Given the description of an element on the screen output the (x, y) to click on. 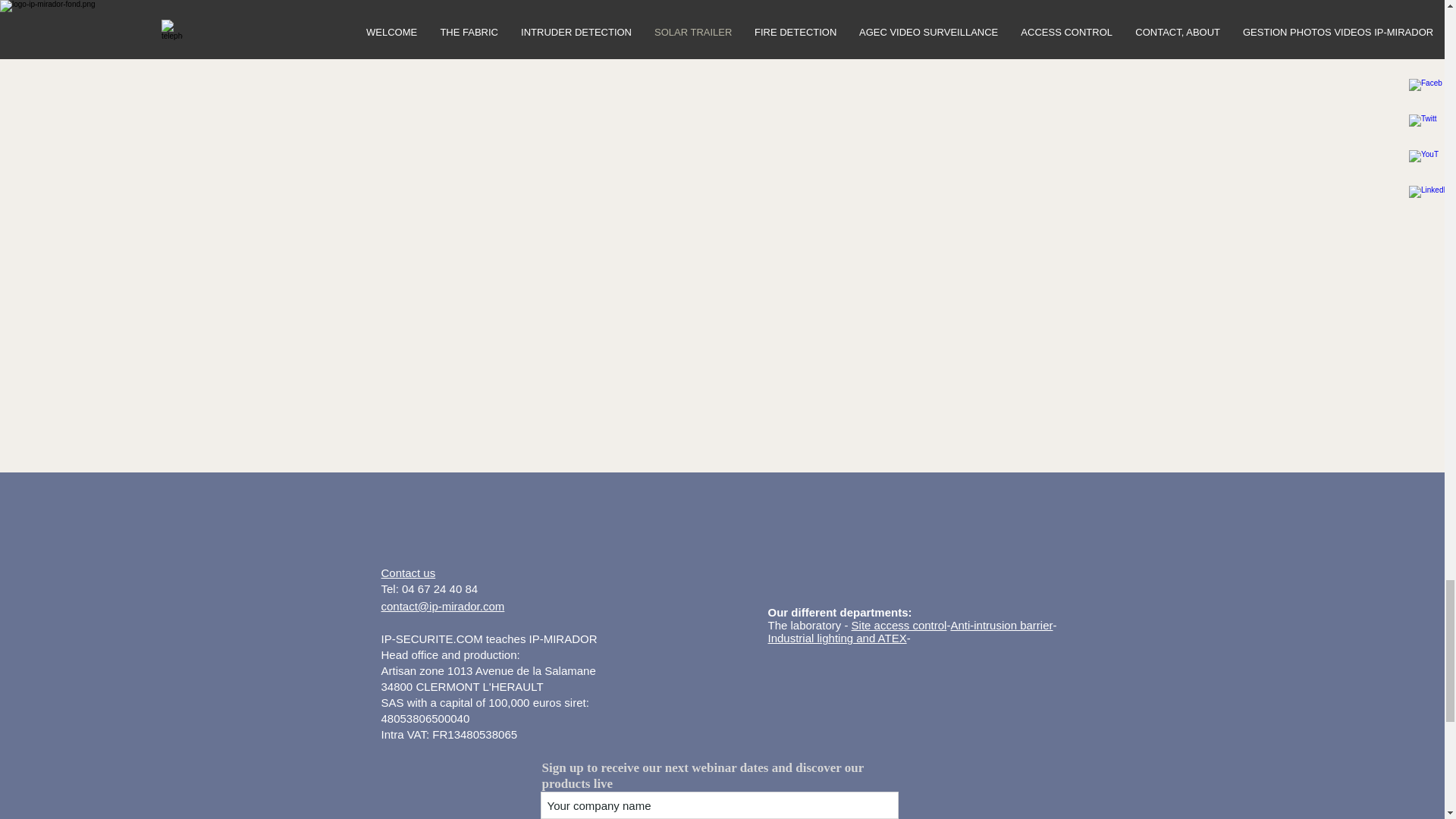
Industrial lighting and ATEX (836, 637)
Contact us (407, 572)
Site access control (899, 625)
Anti-intrusion barrier (1001, 625)
